Given the description of an element on the screen output the (x, y) to click on. 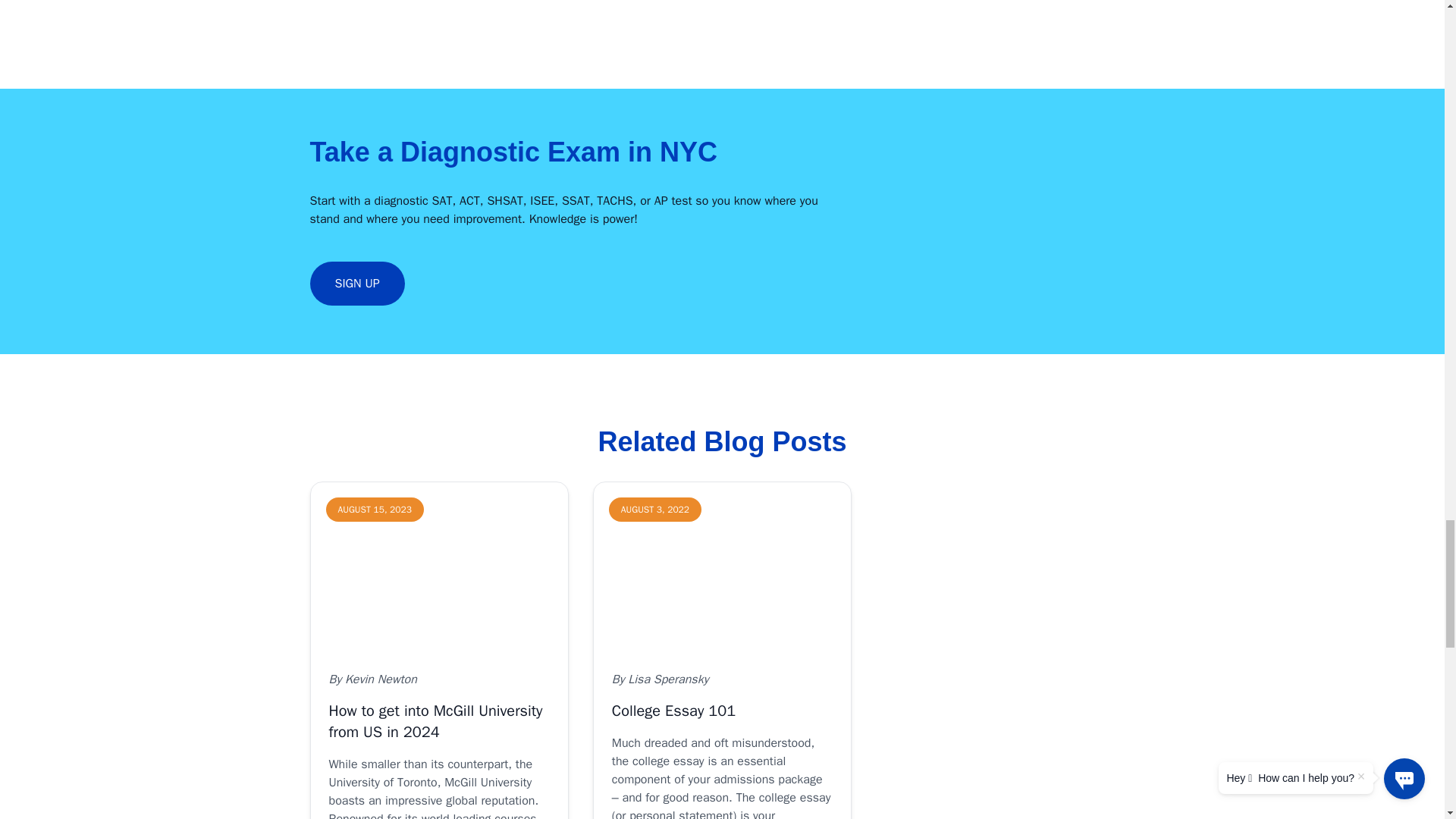
SIGN UP (356, 283)
College Essay 101 (722, 566)
How to get into McGill University from US in 2024 (439, 566)
